Given the description of an element on the screen output the (x, y) to click on. 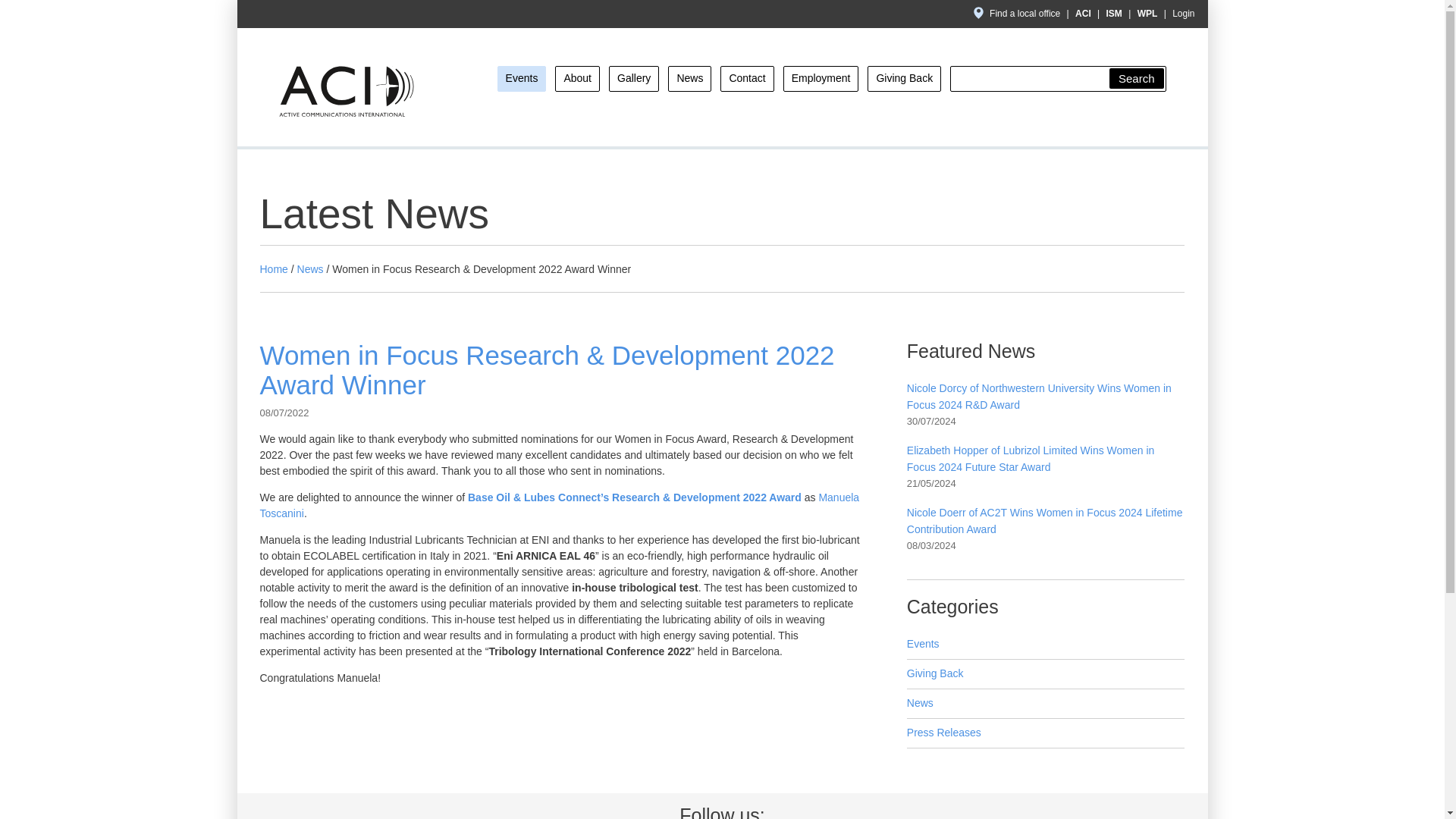
Login (1182, 13)
Events (522, 78)
News (1046, 703)
Giving Back (903, 78)
News (689, 78)
Home (272, 268)
Events (1046, 644)
LinkedIn (1153, 111)
Contact (746, 78)
WPL (1147, 13)
Facebook (1121, 111)
Gallery (633, 78)
Find a local office (1017, 13)
Facebook (1121, 111)
